Given the description of an element on the screen output the (x, y) to click on. 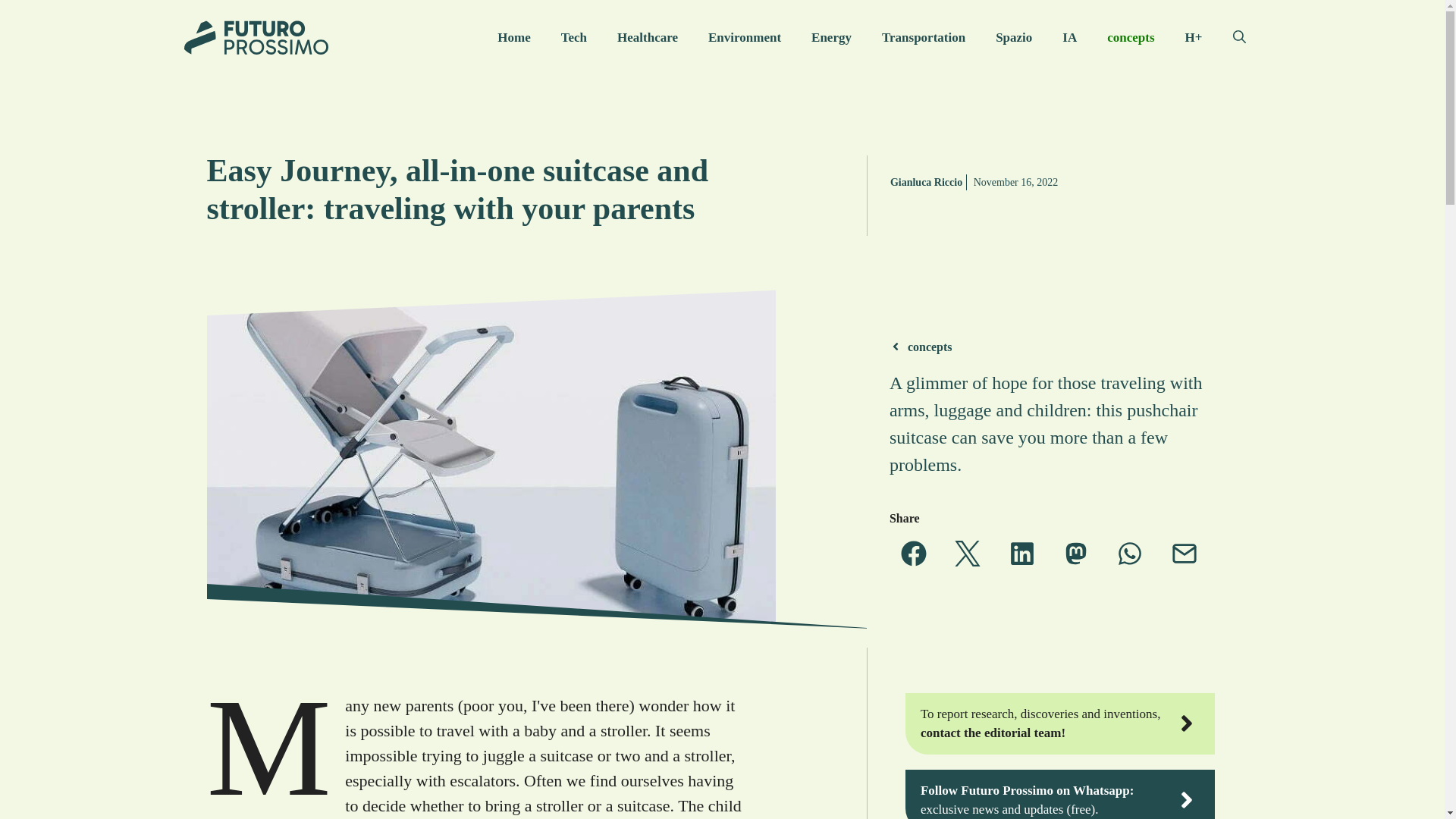
Environment (744, 37)
Energy (831, 37)
Tech (574, 37)
IA (1069, 37)
Healthcare (647, 37)
concepts (1130, 37)
Transportation (922, 37)
Home (512, 37)
Spazio (1012, 37)
